Given the description of an element on the screen output the (x, y) to click on. 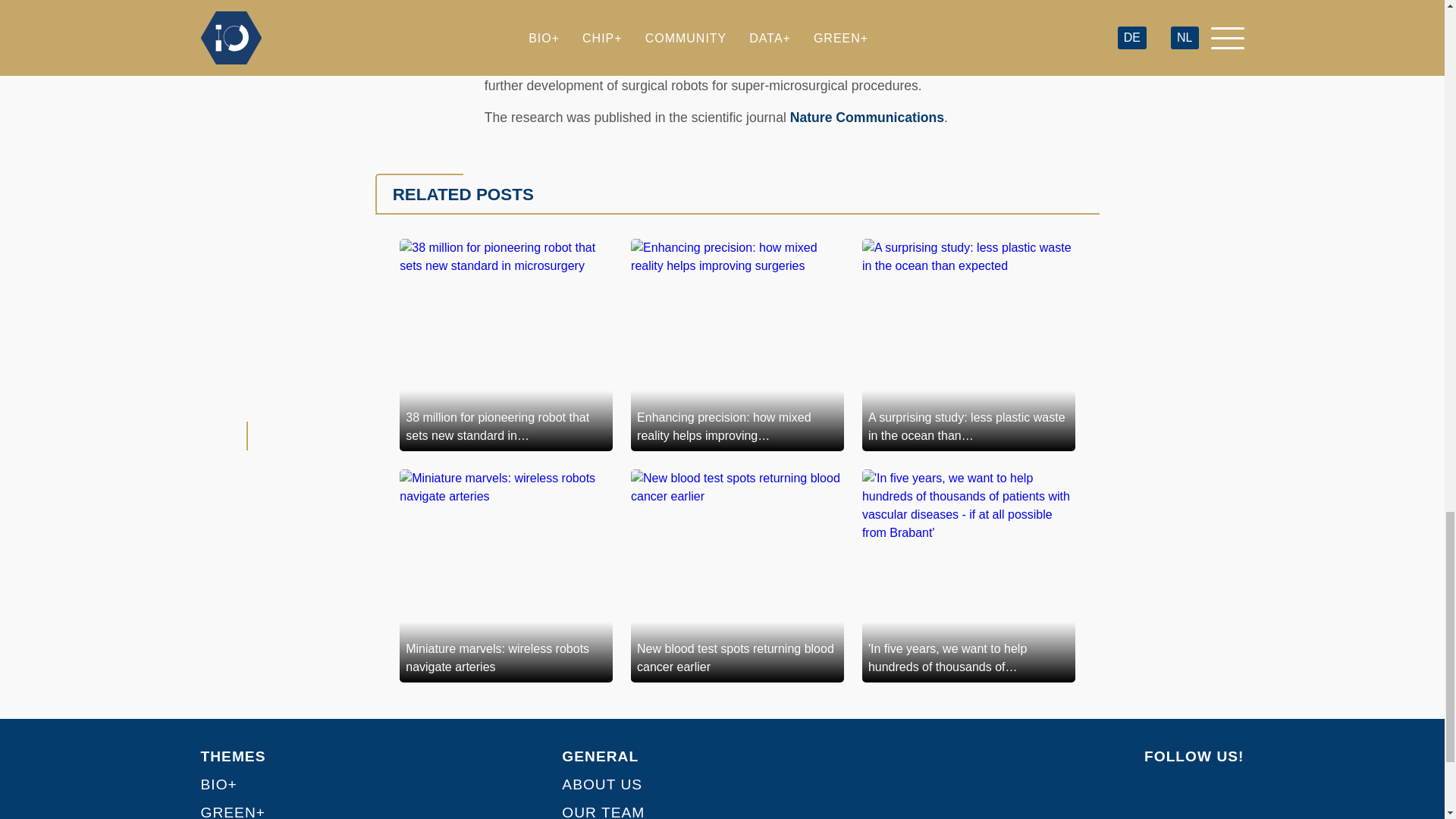
Miniature marvels: wireless robots navigate arteries (505, 575)
